Given the description of an element on the screen output the (x, y) to click on. 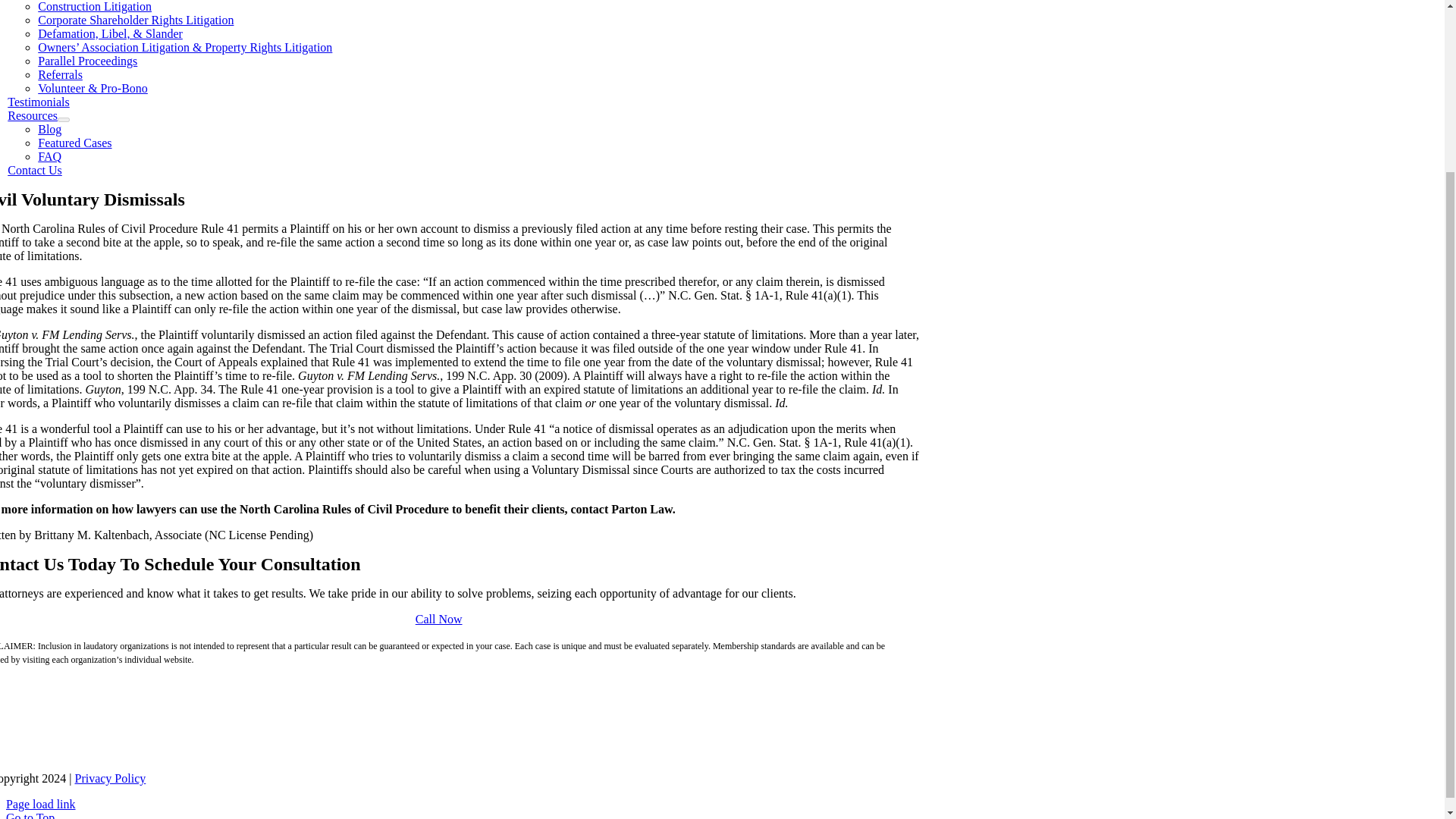
Featured Cases (74, 142)
Privacy Policy (109, 778)
Contact Us (34, 169)
Blog (49, 128)
Construction Litigation (94, 6)
Referrals (59, 74)
Page load link (40, 803)
Call Now (438, 618)
Testimonials (38, 101)
FAQ (49, 155)
